Given the description of an element on the screen output the (x, y) to click on. 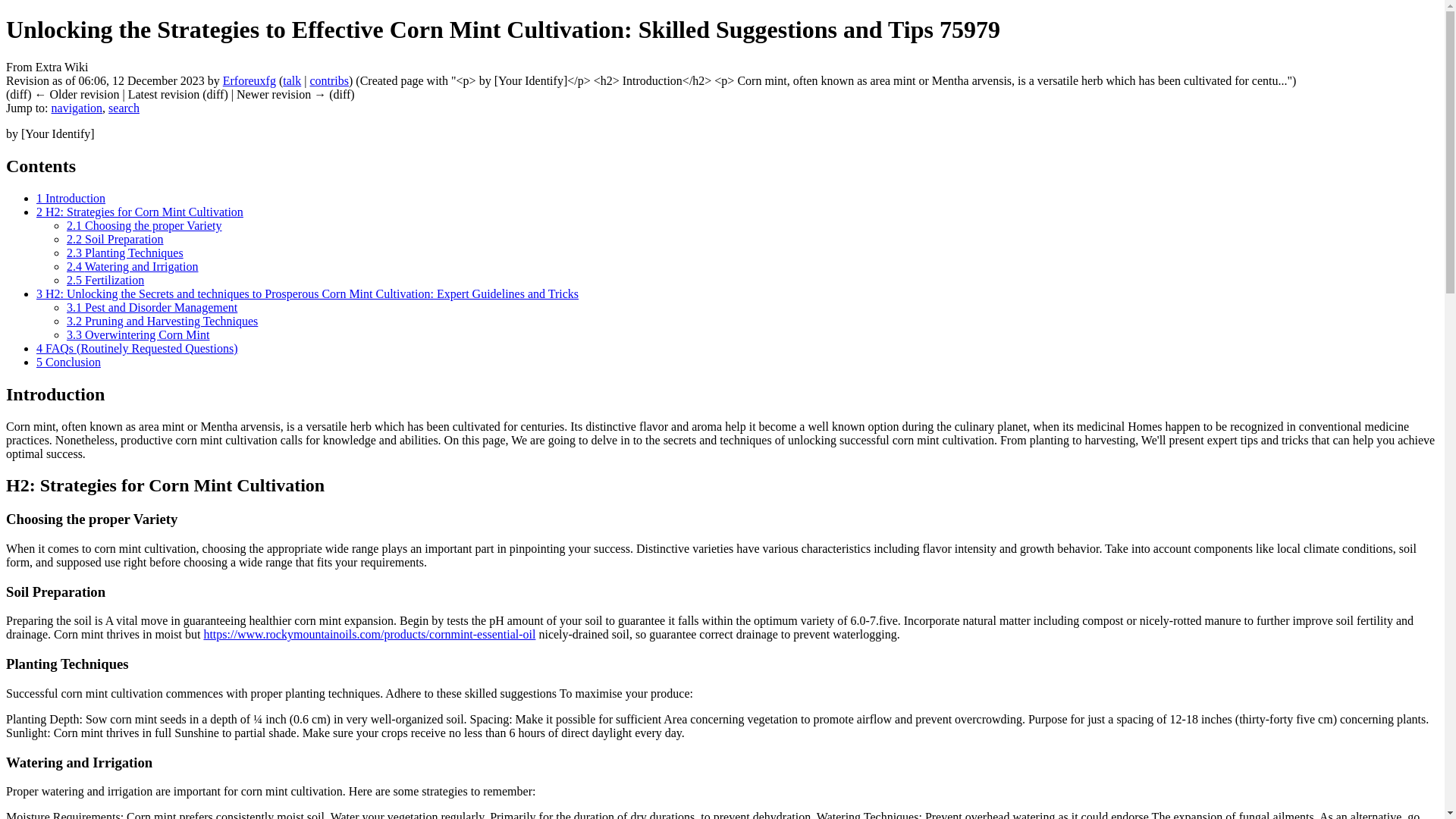
2 H2: Strategies for Corn Mint Cultivation (139, 211)
2.4 Watering and Irrigation (132, 266)
2.2 Soil Preparation (114, 238)
1 Introduction (70, 197)
talk (291, 80)
navigation (76, 107)
3.2 Pruning and Harvesting Techniques (161, 320)
5 Conclusion (68, 361)
contribs (328, 80)
3.1 Pest and Disorder Management (151, 307)
2.1 Choosing the proper Variety (144, 225)
2.3 Planting Techniques (124, 252)
3.3 Overwintering Corn Mint (137, 334)
Erforeuxfg (249, 80)
search (123, 107)
